Given the description of an element on the screen output the (x, y) to click on. 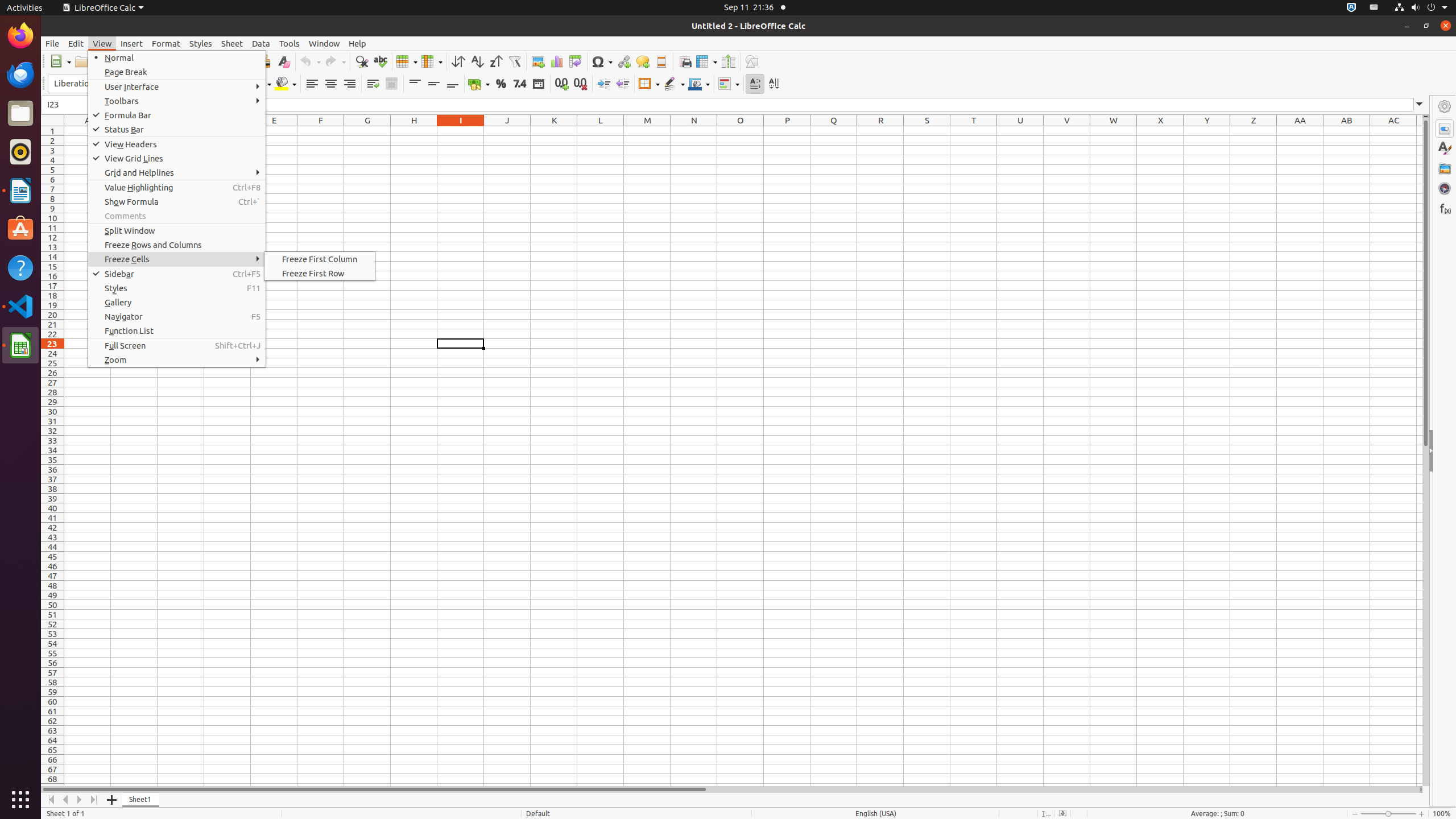
Sort Ascending Element type: push-button (476, 61)
O1 Element type: table-cell (740, 130)
Gallery Element type: radio-button (1444, 168)
Properties Element type: radio-button (1444, 128)
Q1 Element type: table-cell (833, 130)
